Given the description of an element on the screen output the (x, y) to click on. 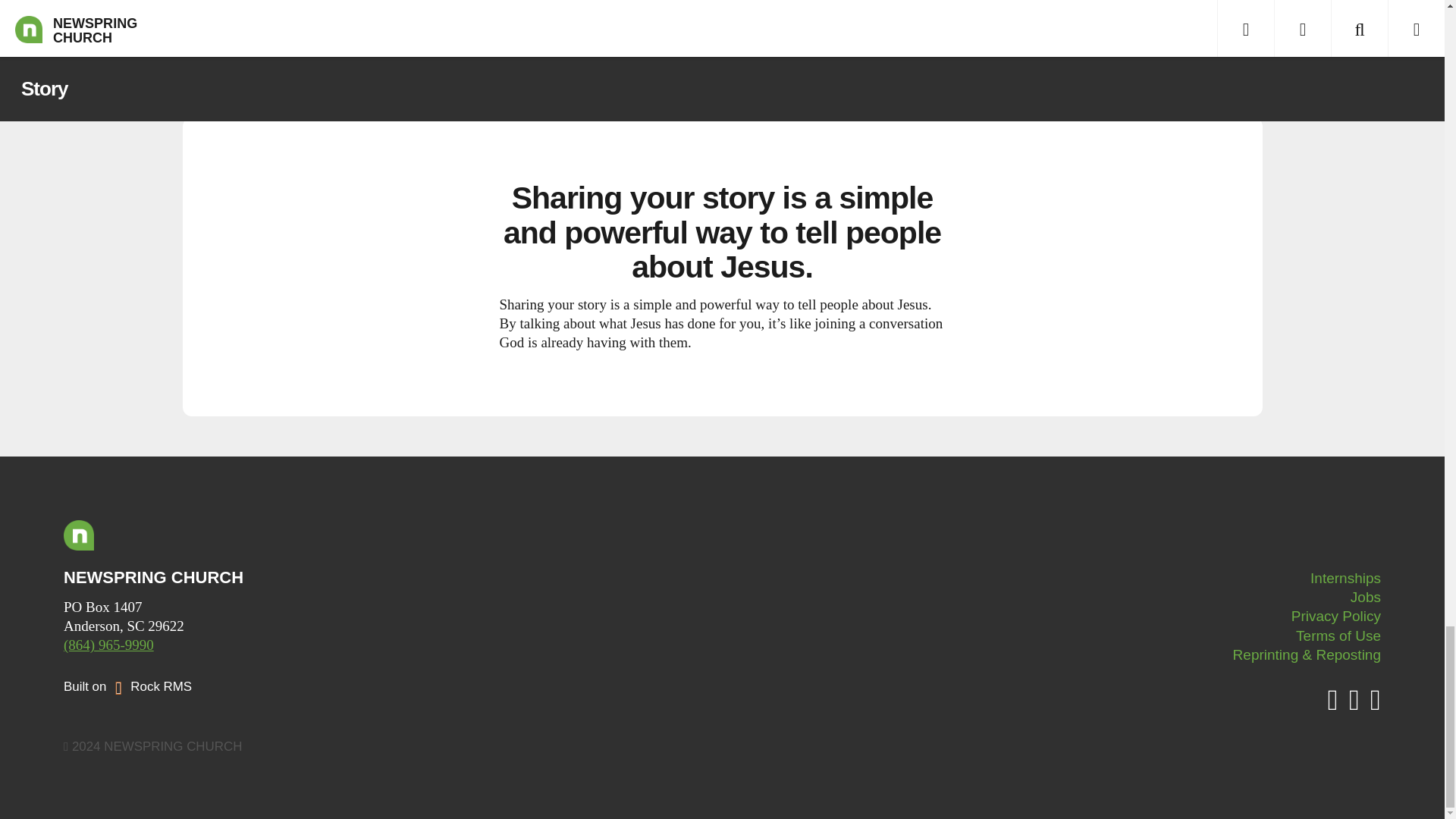
faith (625, 56)
community (510, 56)
Share (721, 13)
groups (670, 56)
salvation (577, 56)
